Given the description of an element on the screen output the (x, y) to click on. 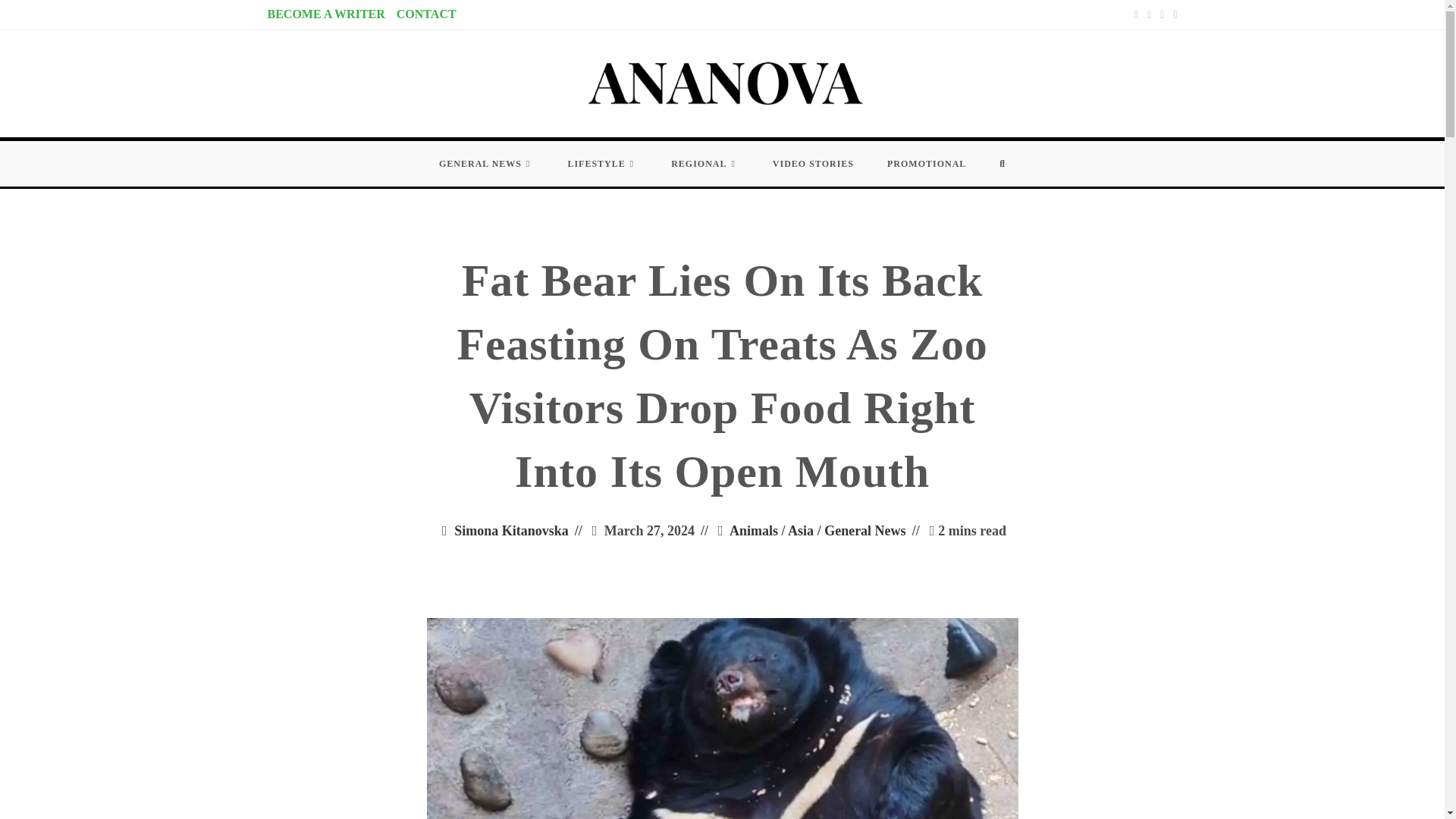
CONTACT (426, 13)
LIFESTYLE (601, 163)
BECOME A WRITER (325, 13)
GENERAL NEWS (486, 163)
